Given the description of an element on the screen output the (x, y) to click on. 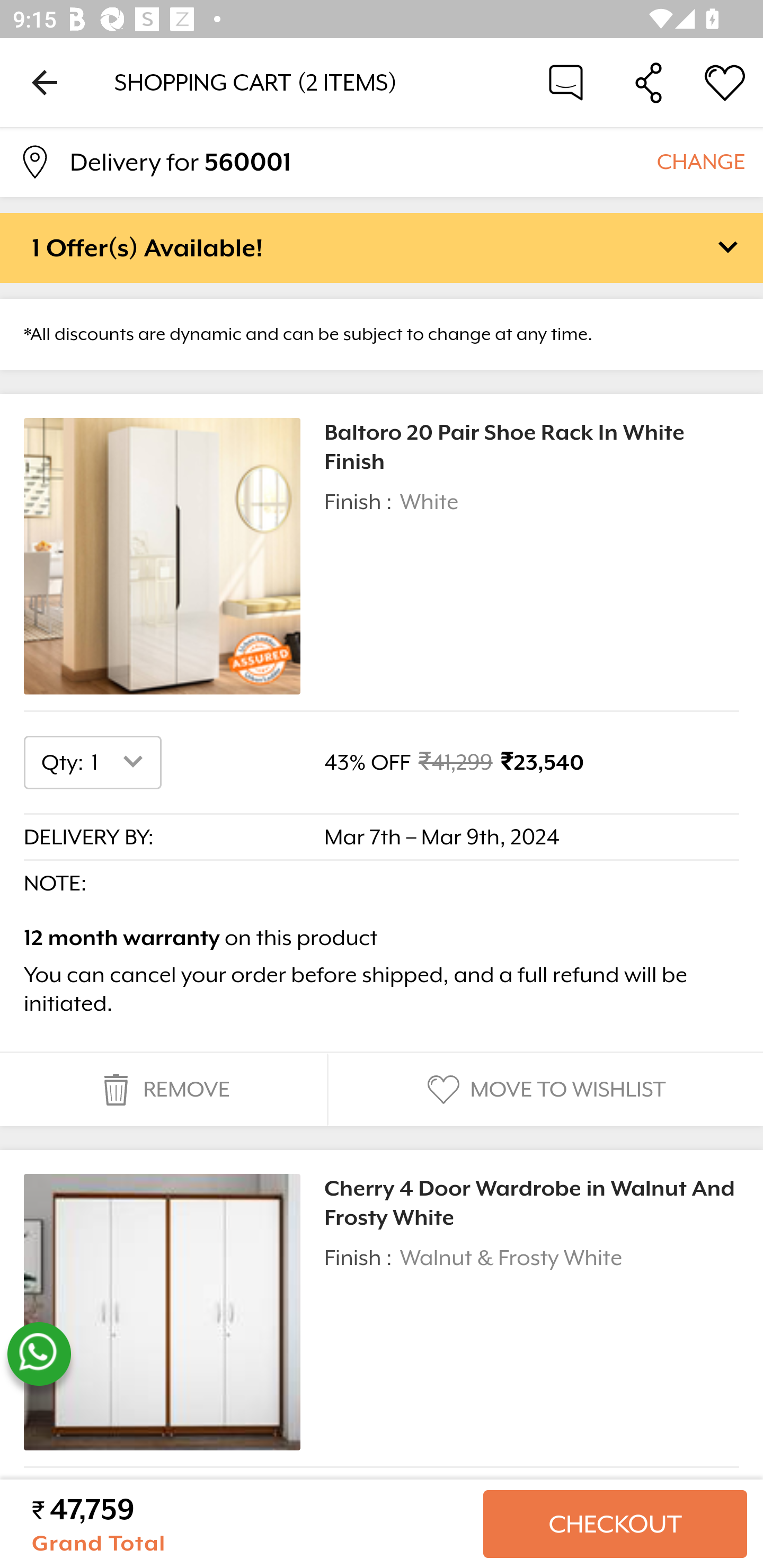
Navigate up (44, 82)
Chat (565, 81)
Share Cart (648, 81)
Wishlist (724, 81)
CHANGE (700, 161)
1 Offer(s) Available! (381, 247)
1 (121, 761)
REMOVE (163, 1089)
MOVE TO WISHLIST (544, 1089)
whatsapp (38, 1353)
₹ 47,759 Grand Total (250, 1523)
CHECKOUT (614, 1523)
